Given the description of an element on the screen output the (x, y) to click on. 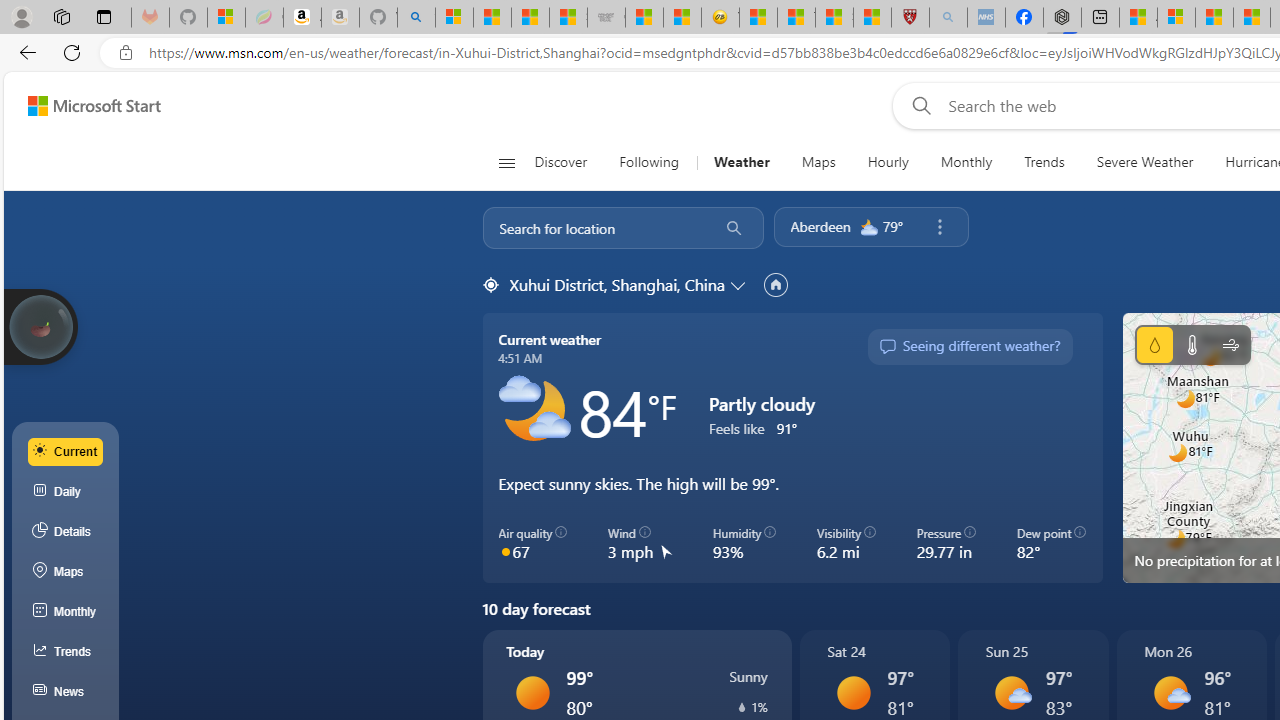
Humidity 93% (743, 543)
Current (65, 451)
Monthly (966, 162)
Join us in planting real trees to help our planet! (40, 325)
Severe Weather (1144, 162)
Visibility 6.2 mi (845, 543)
Precipitation (1154, 344)
Class: aqiColorCycle-DS-EntryPoint1-1 (505, 551)
